Given the description of an element on the screen output the (x, y) to click on. 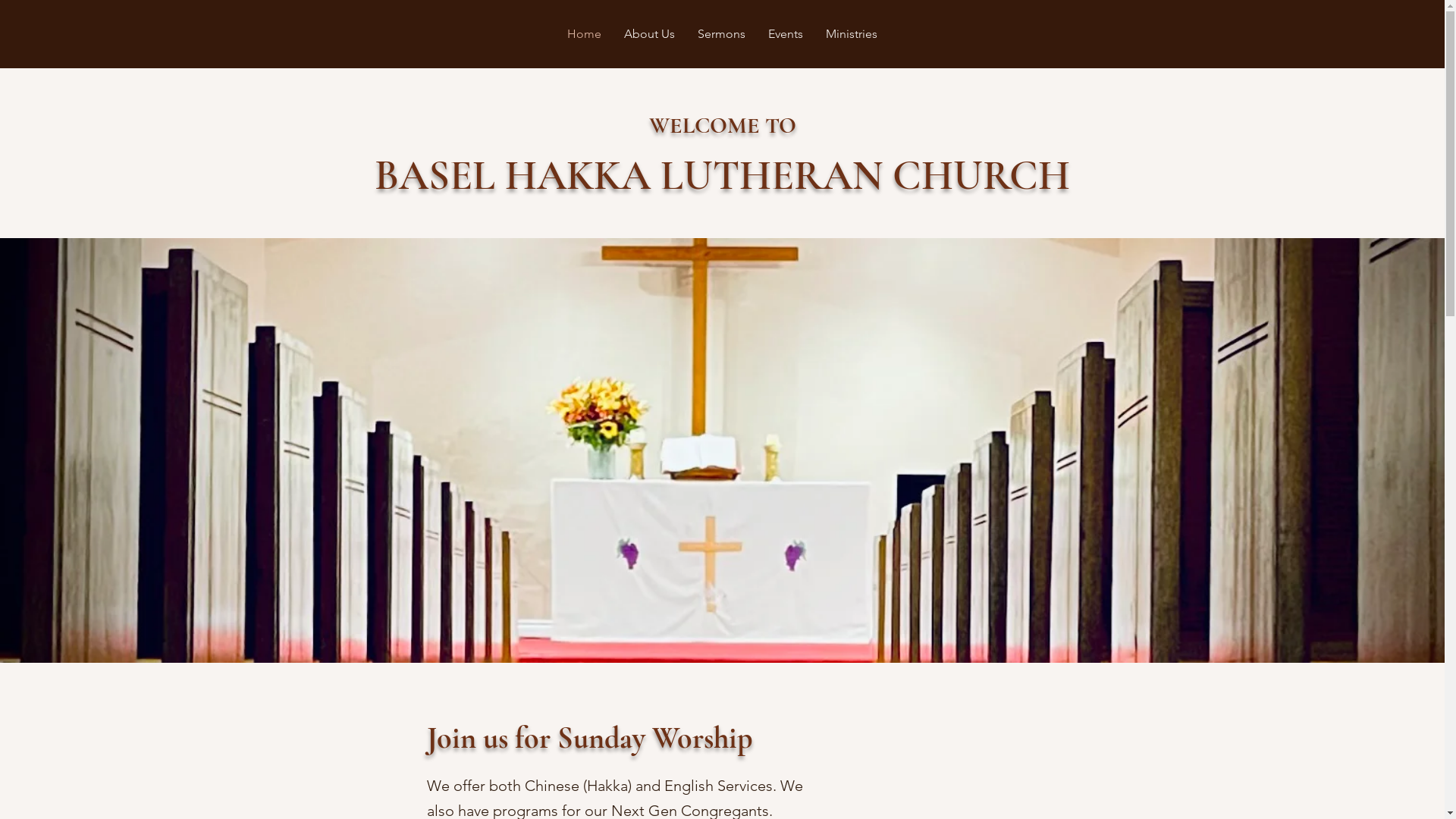
Ministries Element type: text (851, 34)
About Us Element type: text (649, 34)
Events Element type: text (785, 34)
Home Element type: text (583, 34)
Sermons Element type: text (721, 34)
